Given the description of an element on the screen output the (x, y) to click on. 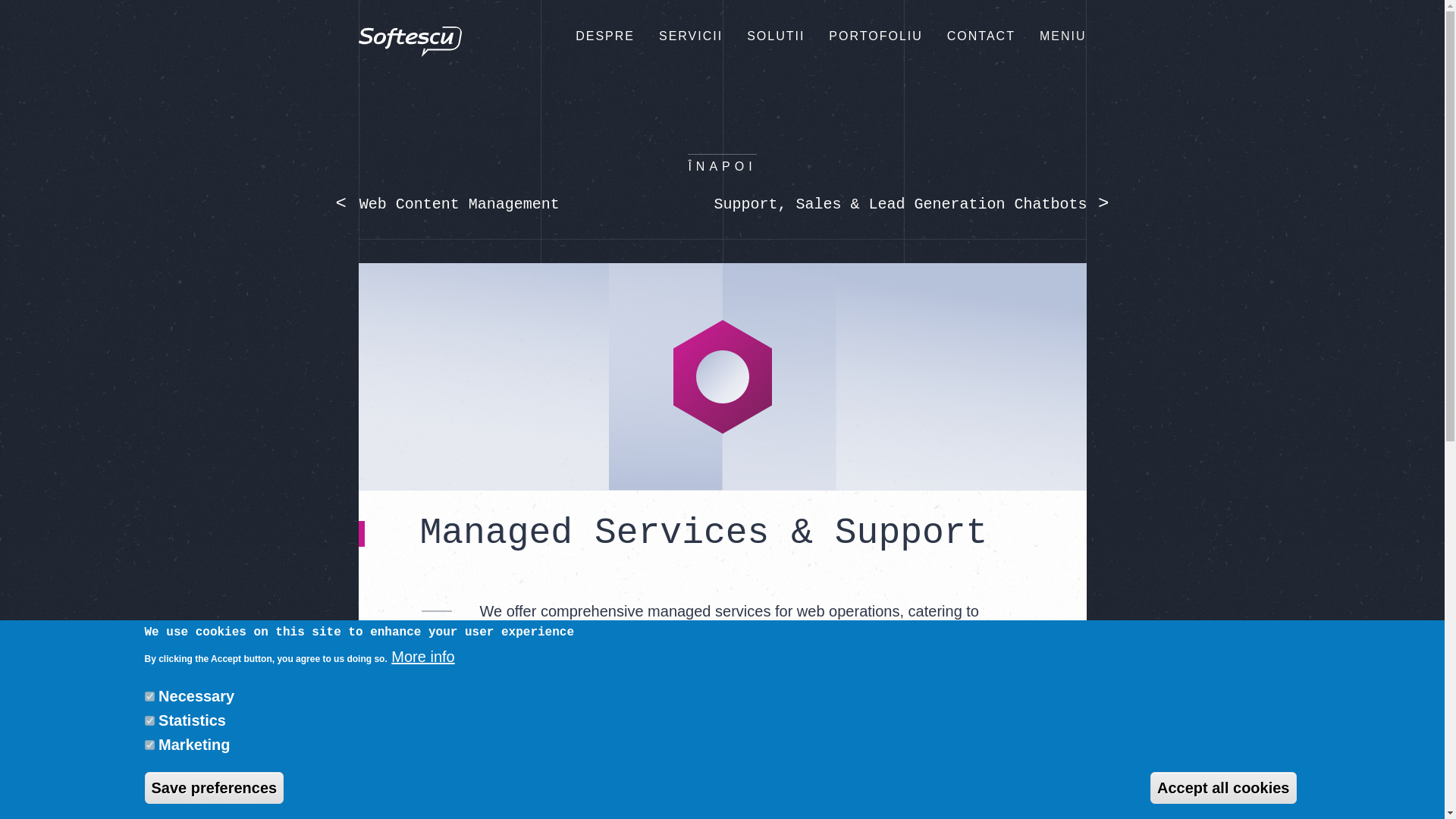
SOLUTII (775, 36)
marketing (149, 745)
CONTACT (980, 36)
DESPRE (604, 36)
SERVICII (690, 36)
PORTOFOLIU (874, 36)
necessary (149, 696)
statistics (149, 720)
